Given the description of an element on the screen output the (x, y) to click on. 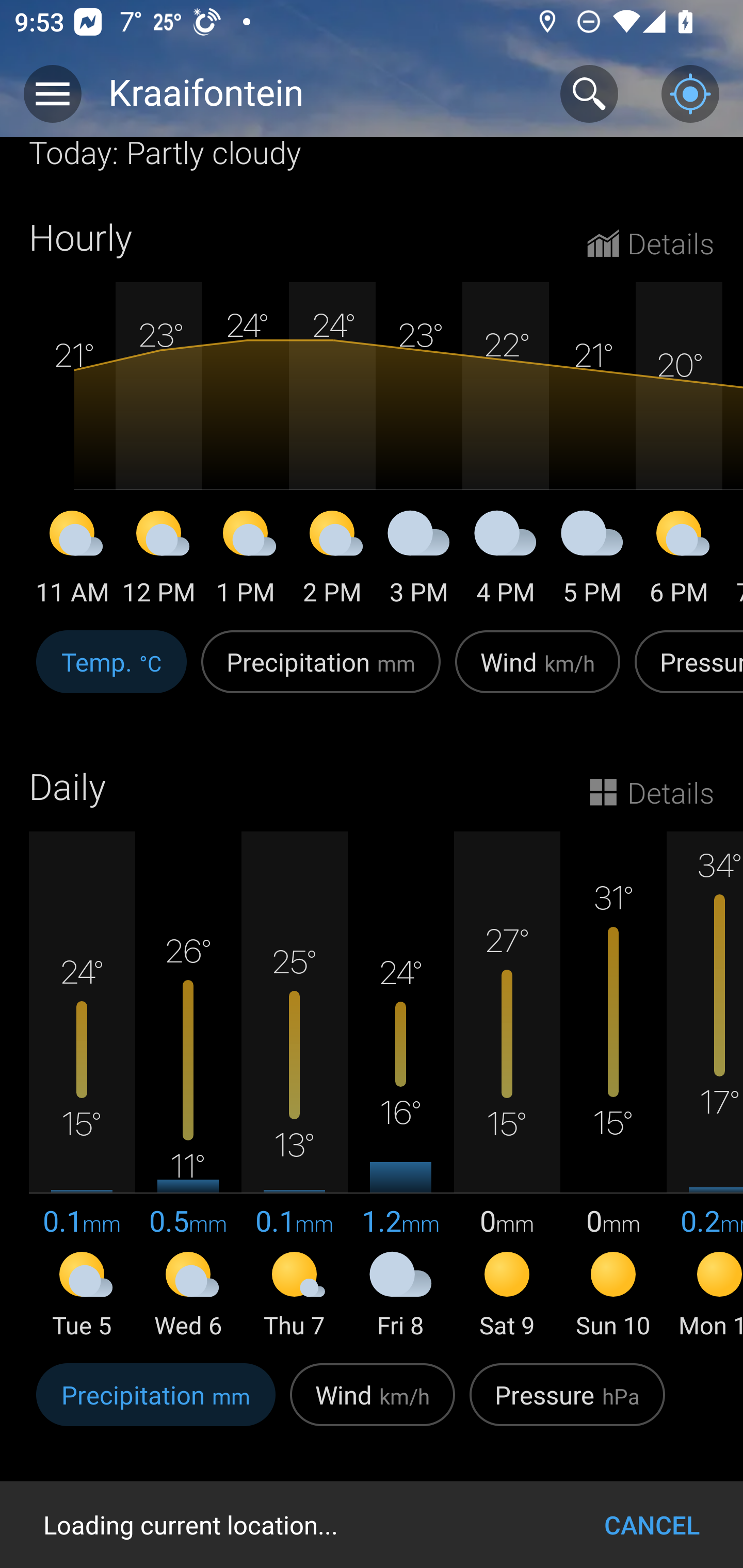
11 AM (71, 560)
12 PM (158, 560)
1 PM (245, 560)
2 PM (332, 560)
3 PM (418, 560)
4 PM (505, 560)
5 PM (592, 560)
6 PM (679, 560)
Temp. °C (110, 672)
Precipitation mm (320, 672)
Wind km/h (537, 672)
Pressure (685, 672)
24° 15° 0.1 mm Tue 5 (81, 1086)
26° 11° 0.5 mm Wed 6 (188, 1086)
25° 13° 0.1 mm Thu 7 (294, 1086)
24° 16° 1.2 mm Fri 8 (400, 1086)
27° 15° 0 mm Sat 9 (506, 1086)
31° 15° 0 mm Sun 10 (613, 1086)
34° 17° 0.2 mm Mon 11 (704, 1086)
Precipitation mm (155, 1405)
Wind km/h (372, 1405)
Pressure hPa (567, 1405)
Loading current location... CANCEL (371, 1524)
CANCEL (651, 1524)
